Given the description of an element on the screen output the (x, y) to click on. 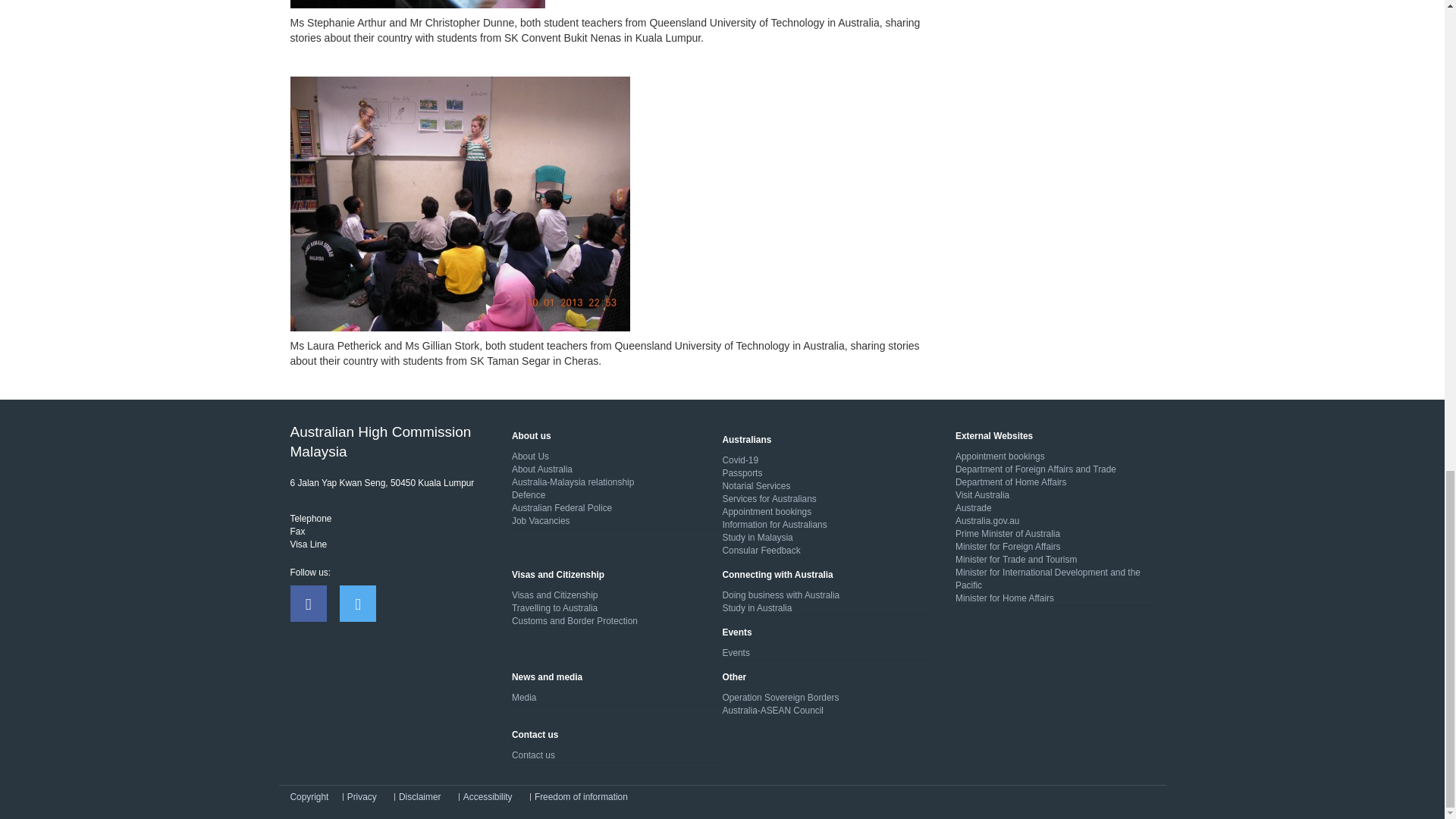
Facebook (307, 603)
Twitter (357, 603)
Telephone (310, 518)
Fax (296, 531)
